Given the description of an element on the screen output the (x, y) to click on. 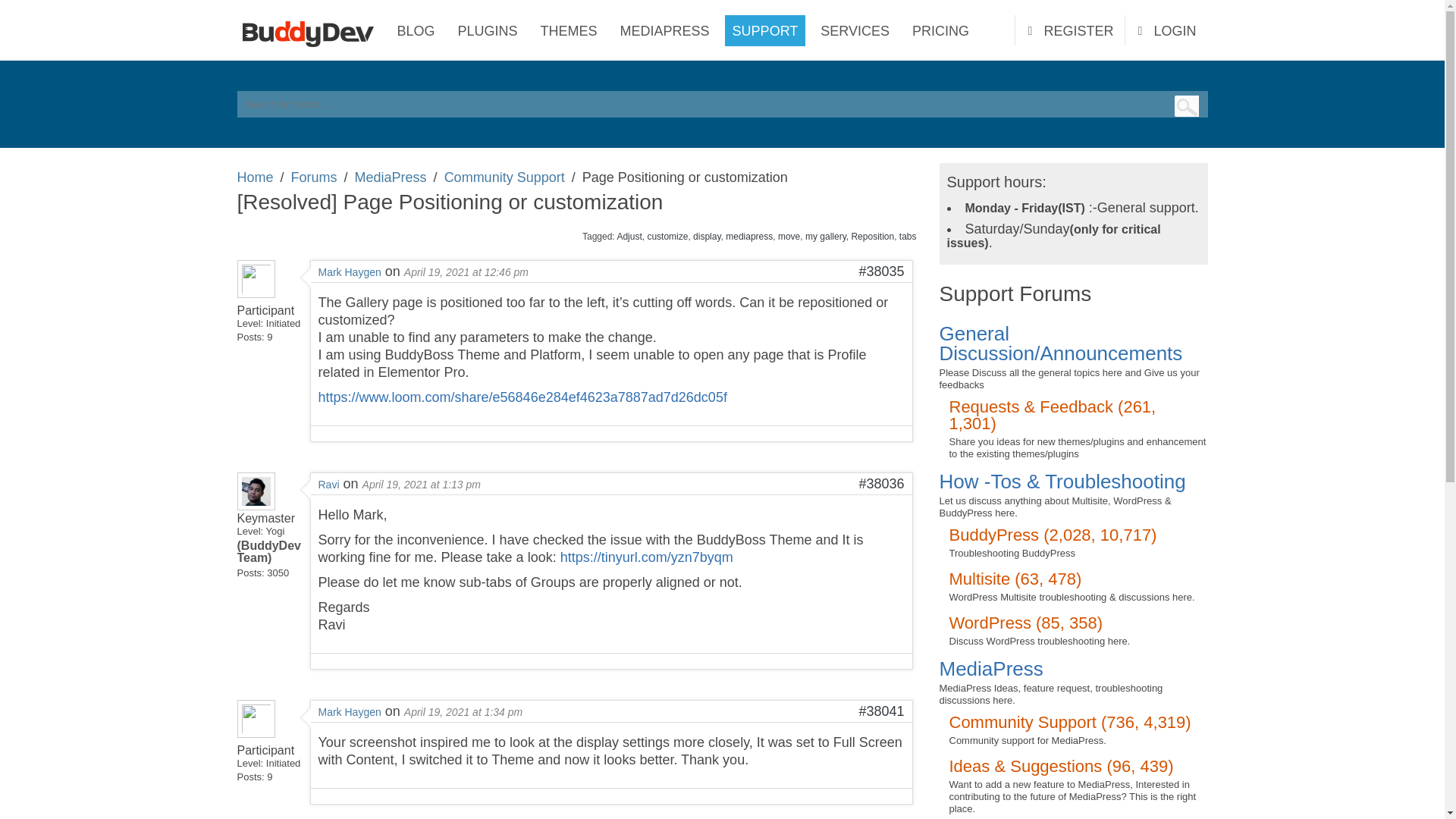
PLUGINS (487, 30)
Login (1166, 30)
View Mark Haygen's profile (349, 271)
View Ravi's profile (255, 505)
THEMES (568, 30)
View Ravi's profile (328, 483)
MEDIAPRESS (664, 30)
Register (1070, 30)
View Mark Haygen's profile (349, 711)
View Mark Haygen's profile (255, 297)
PRICING (940, 30)
REGISTER (1070, 30)
BuddyDev (311, 30)
SERVICES (854, 30)
